Given the description of an element on the screen output the (x, y) to click on. 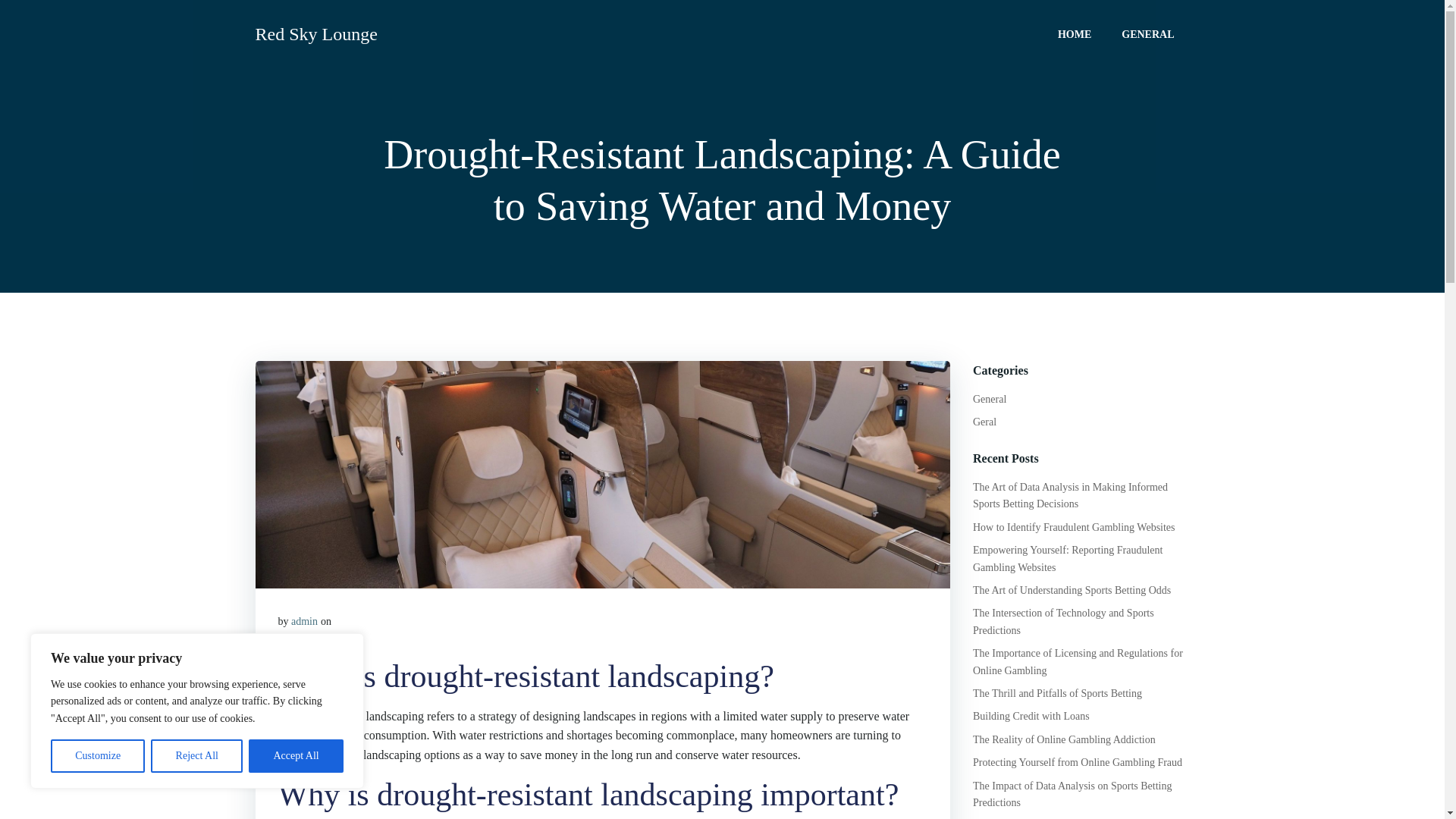
HOME (1074, 33)
General (989, 398)
Red Sky Lounge (315, 33)
Reject All (197, 756)
GENERAL (1147, 33)
Empowering Yourself: Reporting Fraudulent Gambling Websites (1066, 558)
admin (304, 621)
How to Identify Fraudulent Gambling Websites (1073, 527)
Geral (983, 421)
